Given the description of an element on the screen output the (x, y) to click on. 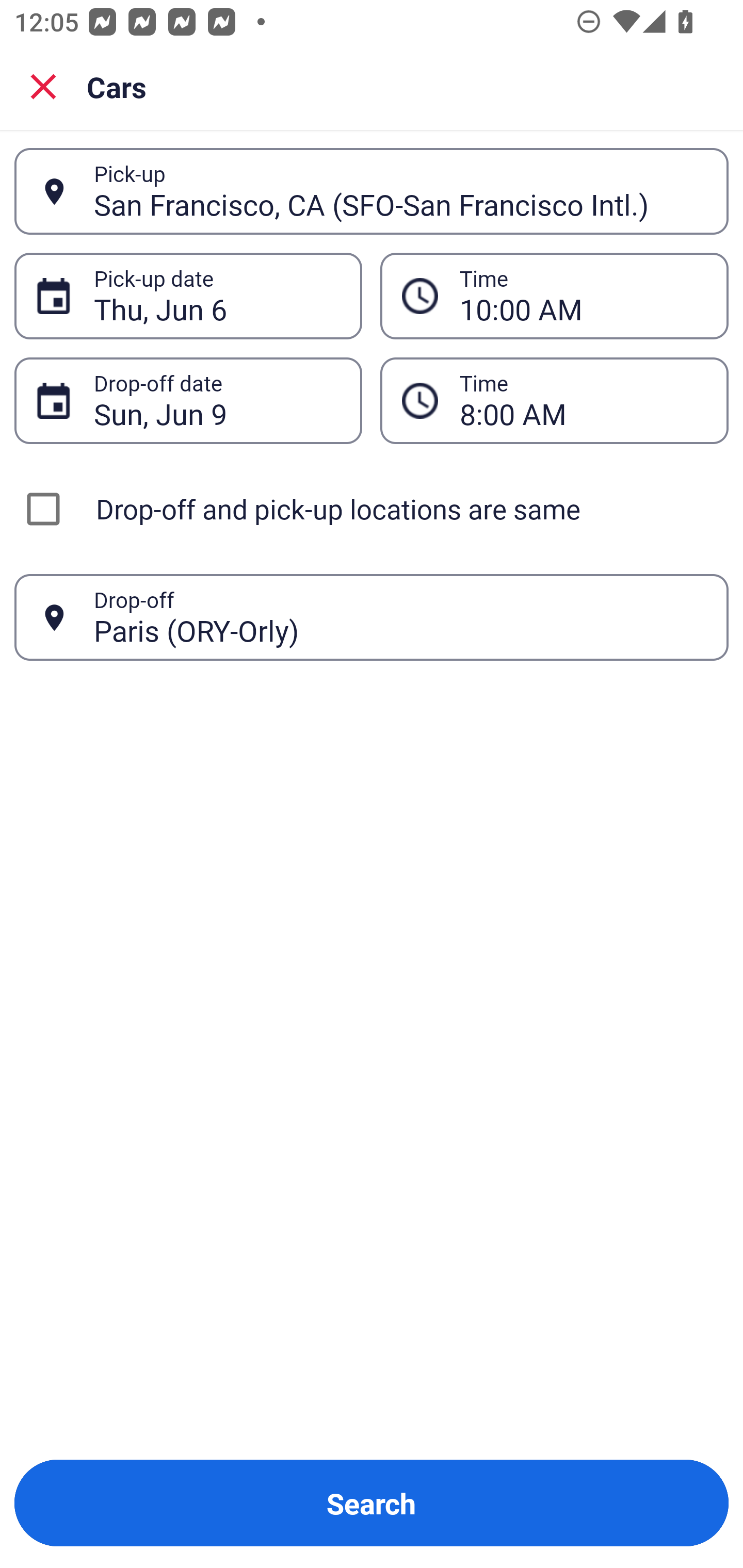
Close search screen (43, 86)
San Francisco, CA (SFO-San Francisco Intl.) (399, 191)
Thu, Jun 6 Pick-up date (188, 295)
10:00 AM (554, 295)
Thu, Jun 6 (216, 296)
10:00 AM (582, 296)
Sun, Jun 9 Drop-off date (188, 400)
8:00 AM (554, 400)
Sun, Jun 9 (216, 400)
8:00 AM (582, 400)
Drop-off and pick-up locations are same (371, 508)
Paris (ORY-Orly) Drop-off (371, 616)
Paris (ORY-Orly) (399, 616)
Search Button Search (371, 1502)
